Given the description of an element on the screen output the (x, y) to click on. 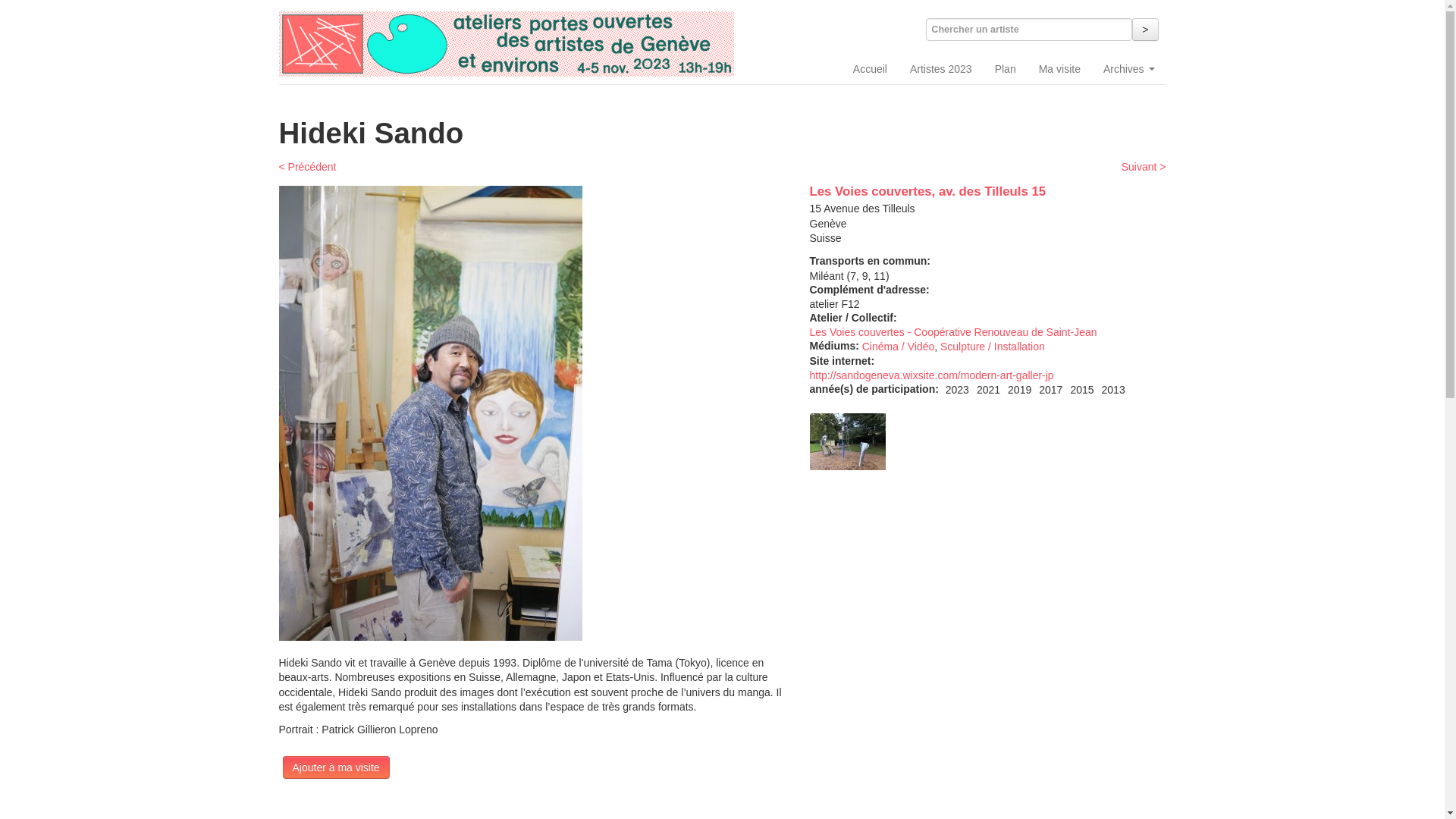
Les Voies couvertes, av. des Tilleuls 15 Element type: text (927, 190)
http://sandogeneva.wixsite.com/modern-art-galler-jp Element type: text (931, 375)
> Element type: text (1144, 29)
Aller au contenu principal Element type: text (0, 7)
Suivant > Element type: text (1143, 166)
Artistes 2023 Element type: text (940, 68)
Sculpture / Installation Element type: text (992, 346)
Accueil Element type: hover (506, 43)
Ma visite Element type: text (1059, 68)
Archives Element type: text (1129, 68)
Accueil Element type: text (869, 68)
Plan Element type: text (1005, 68)
